Given the description of an element on the screen output the (x, y) to click on. 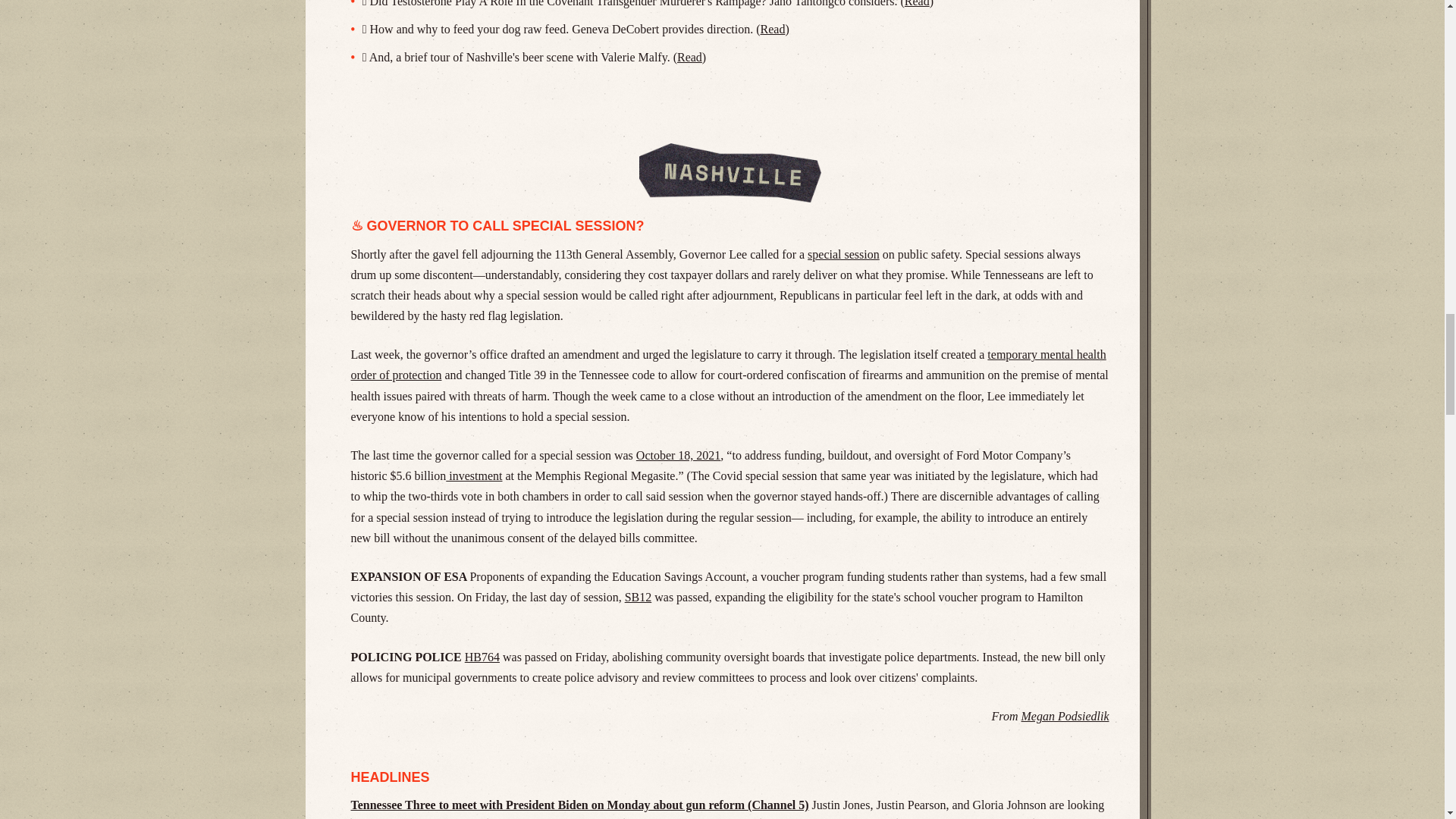
Read (772, 29)
temporary mental health order of protection (727, 364)
Read (917, 3)
Read (689, 56)
investment (473, 475)
special session (843, 253)
October 18, 2021 (678, 454)
